Given the description of an element on the screen output the (x, y) to click on. 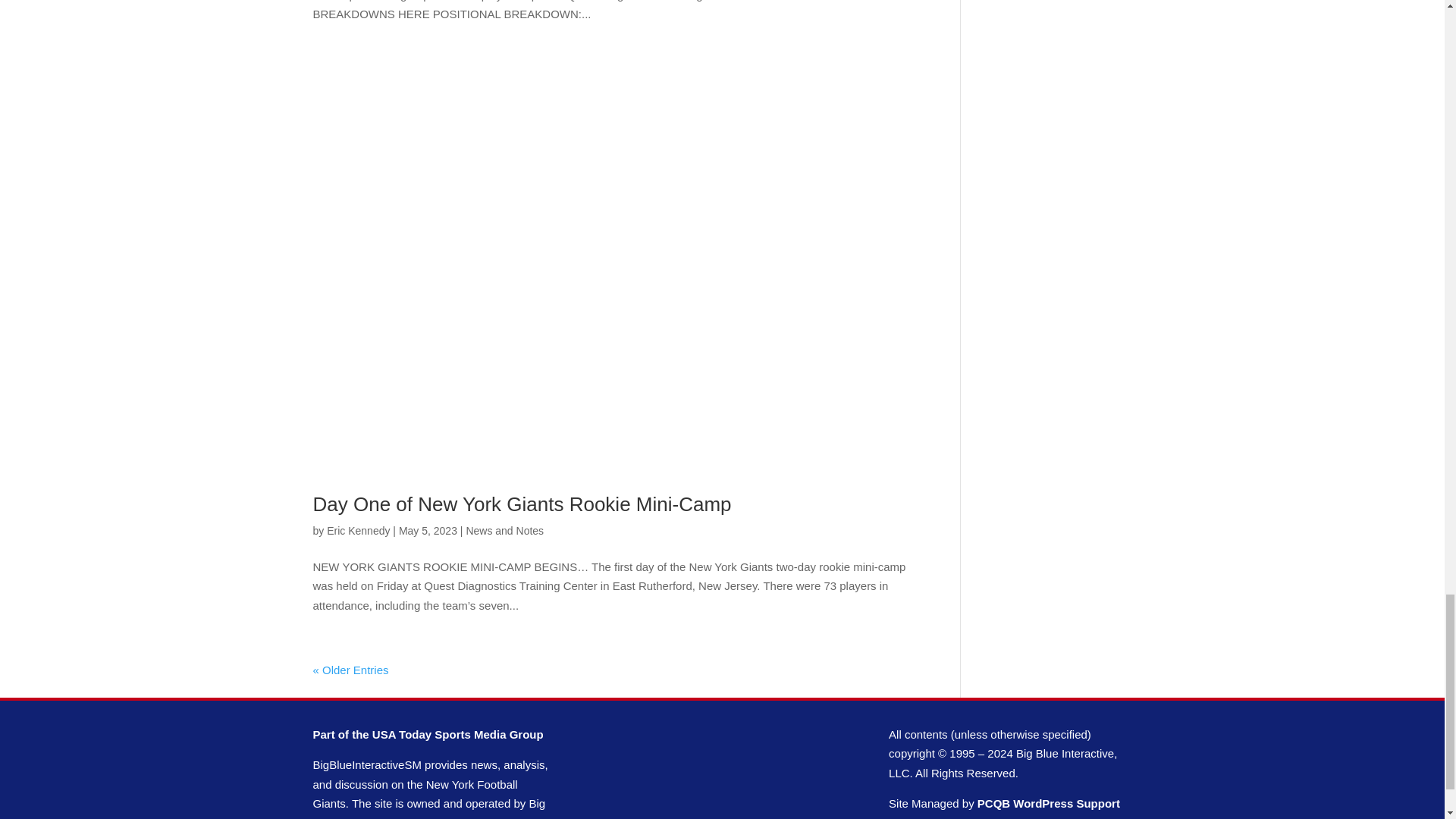
Posts by Eric Kennedy (358, 530)
